Given the description of an element on the screen output the (x, y) to click on. 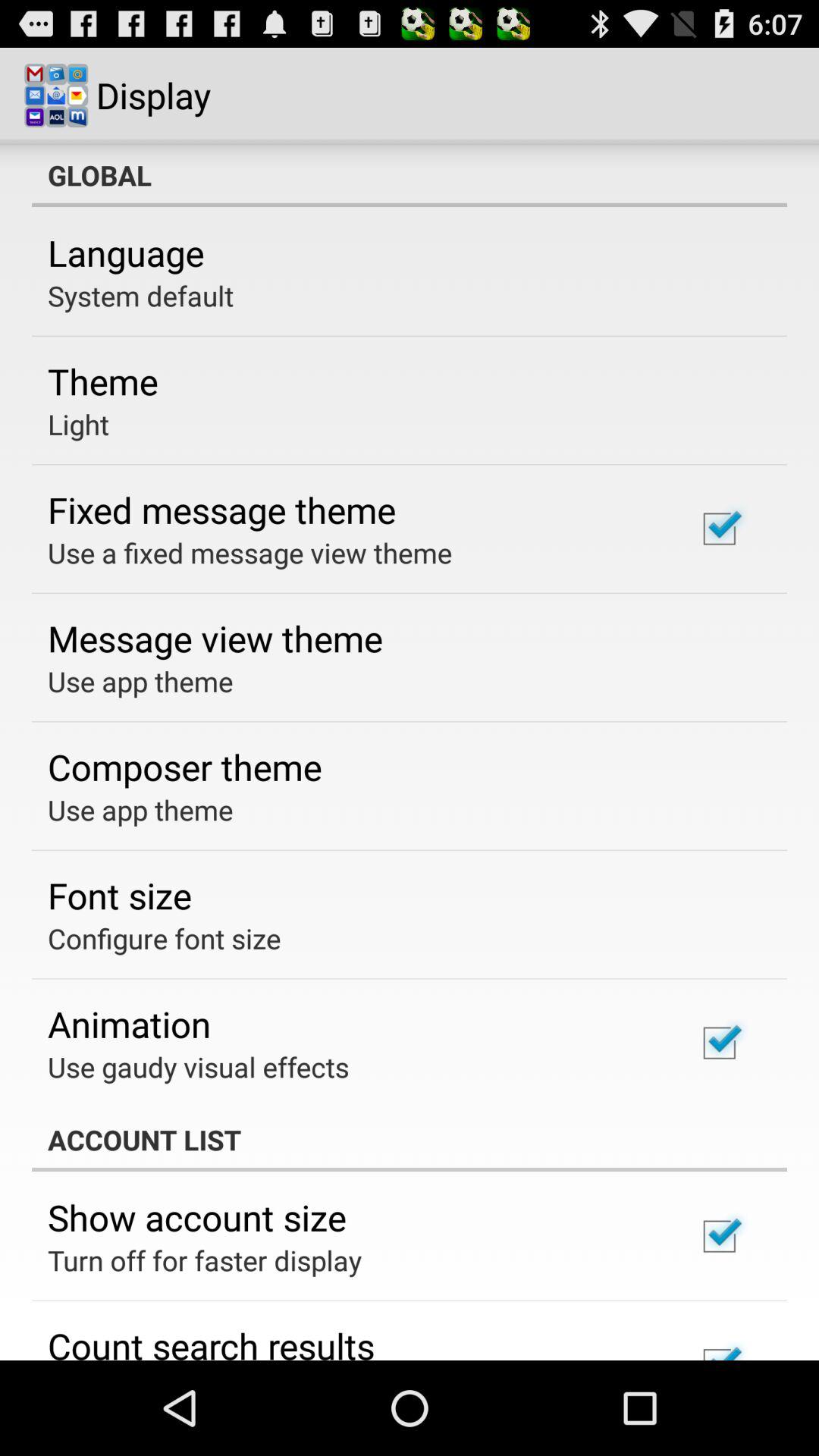
choose system default (140, 295)
